Given the description of an element on the screen output the (x, y) to click on. 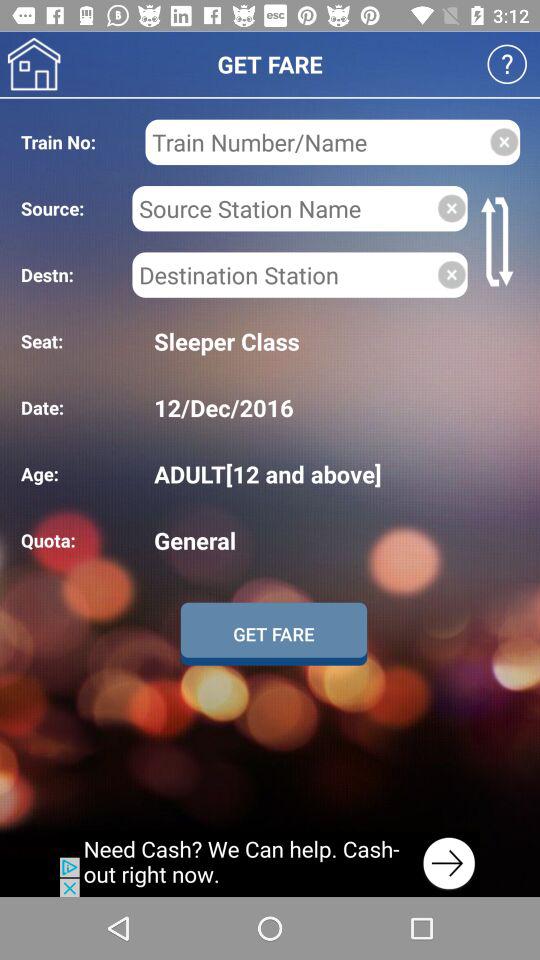
to type source (284, 208)
